Given the description of an element on the screen output the (x, y) to click on. 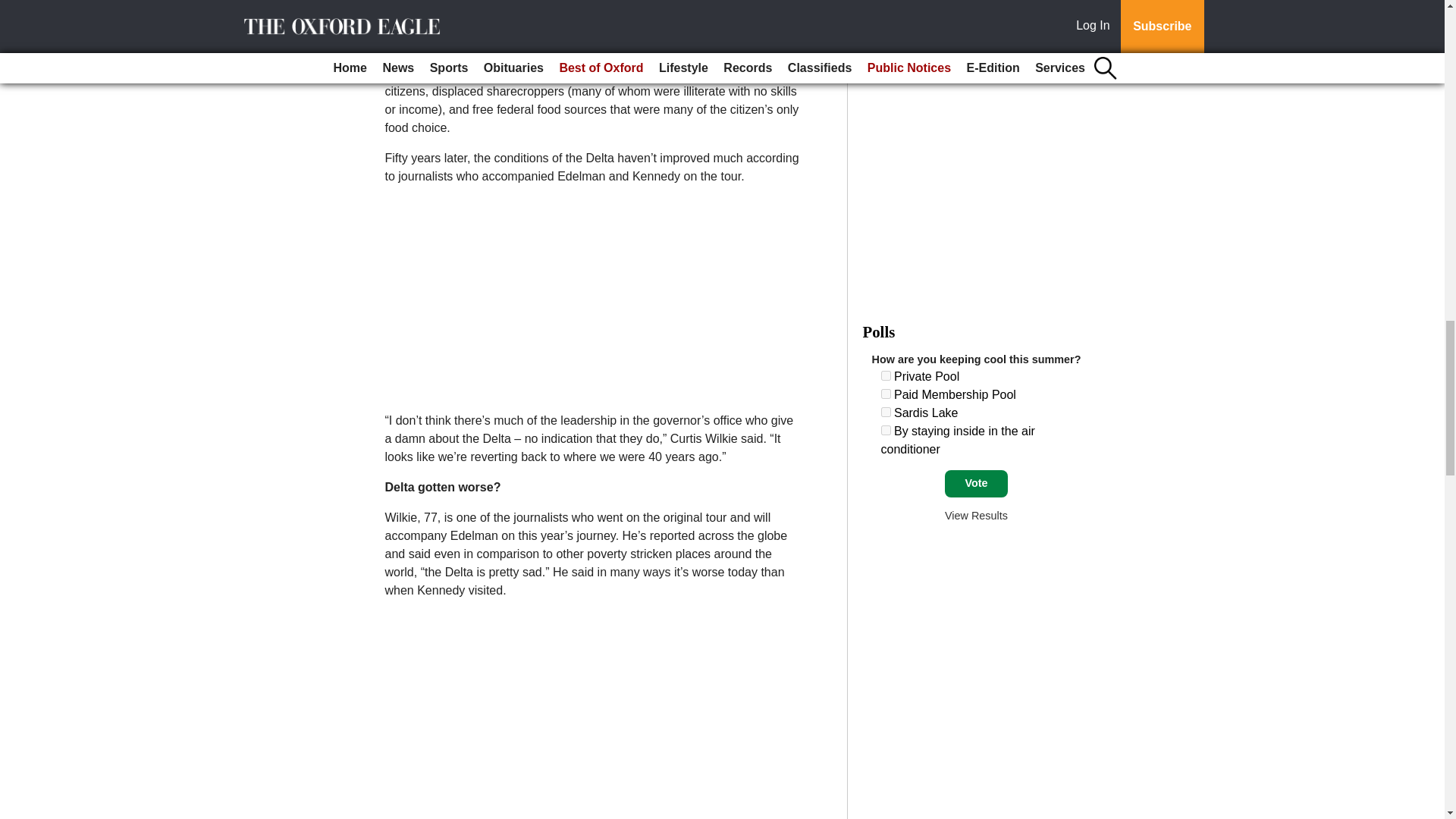
   Vote    (975, 483)
166 (885, 411)
165 (885, 393)
164 (885, 375)
View Results Of This Poll (975, 515)
167 (885, 429)
